Given the description of an element on the screen output the (x, y) to click on. 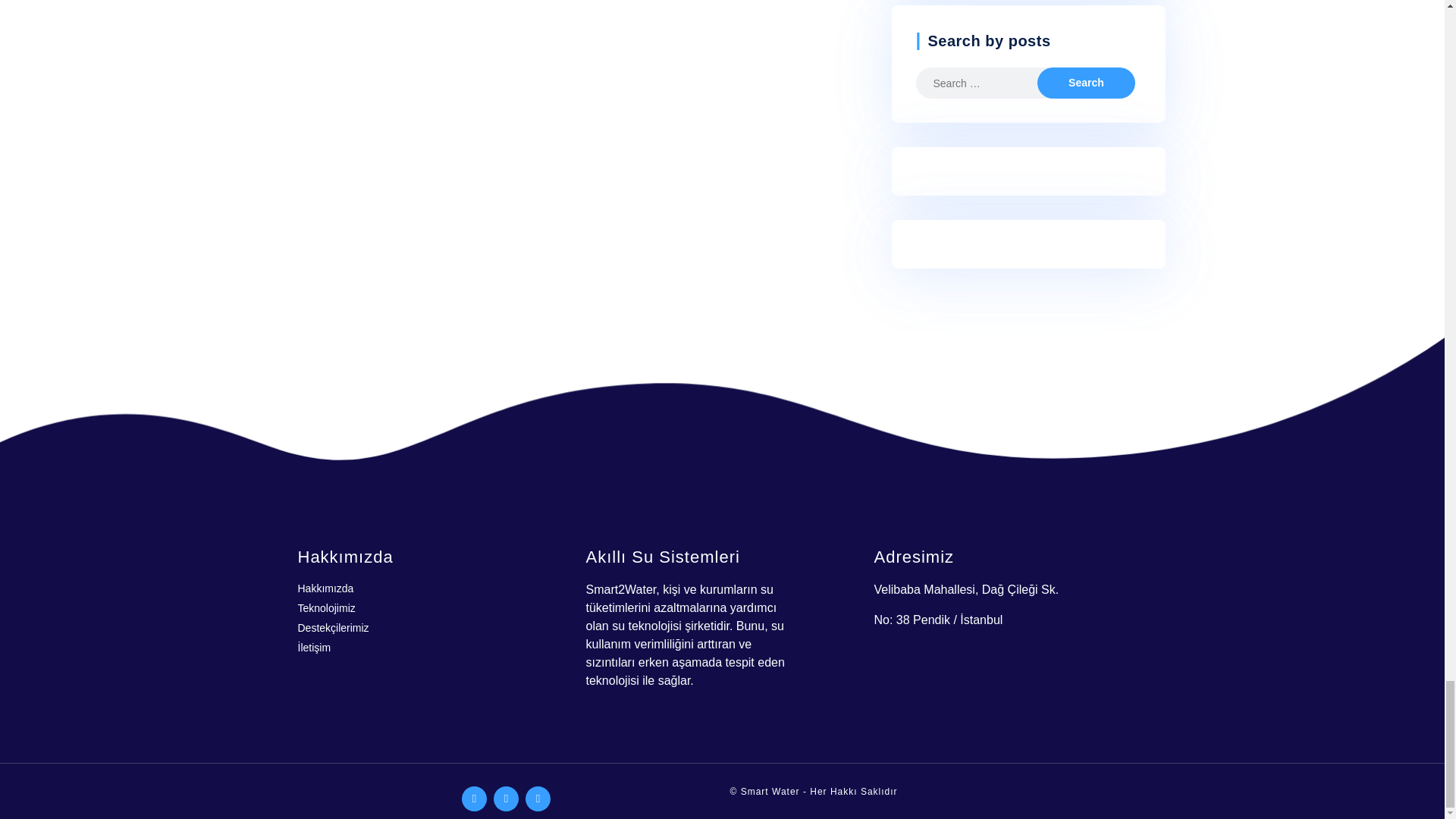
Search (1085, 82)
Search (1085, 82)
Search for: (988, 82)
